Given the description of an element on the screen output the (x, y) to click on. 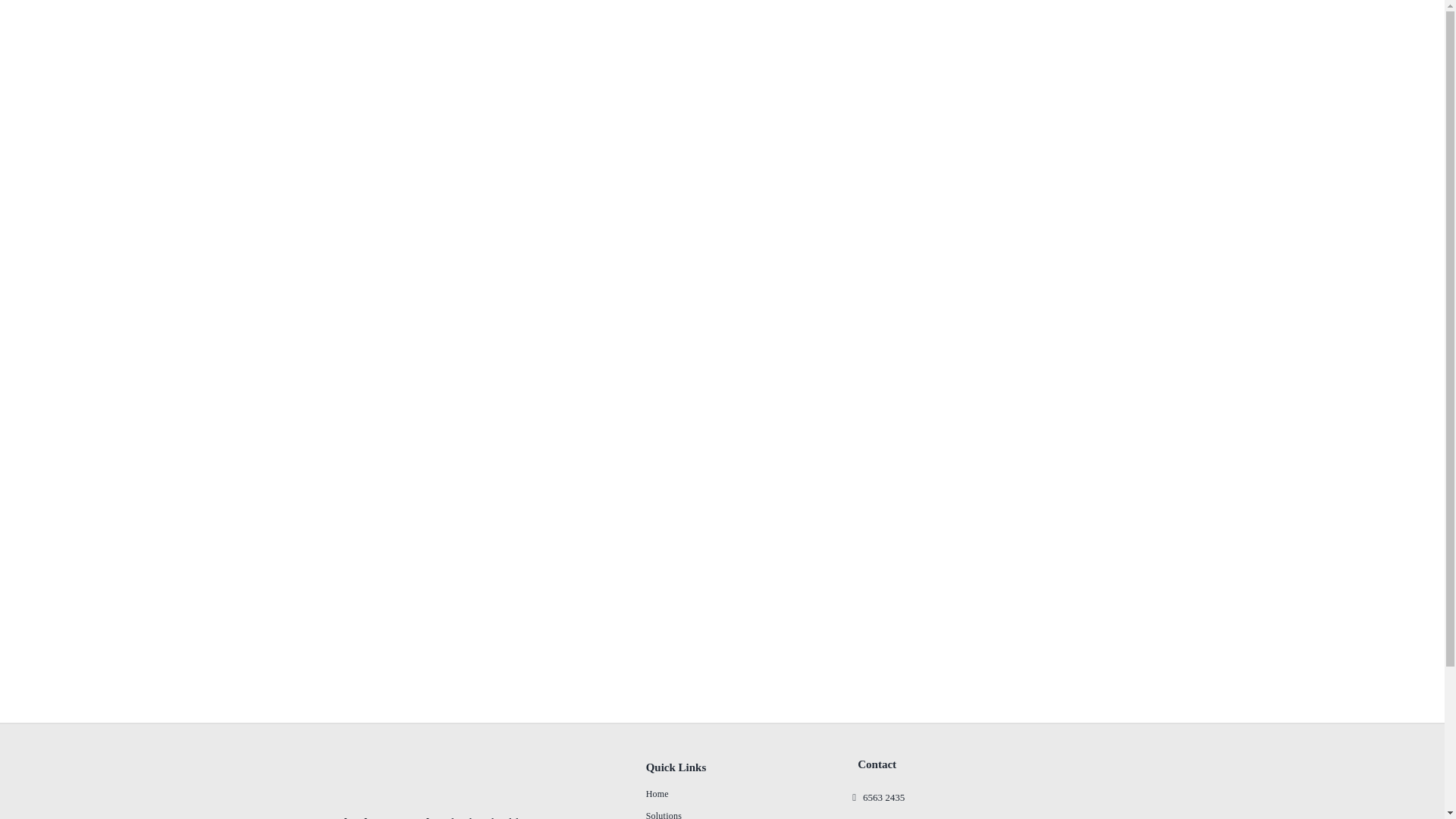
6563 2435 (877, 797)
AssuranceTechnology Logo RGB Emblem onWhite (289, 778)
Home (713, 794)
6563 2435 (877, 797)
Solutions (713, 813)
